Given the description of an element on the screen output the (x, y) to click on. 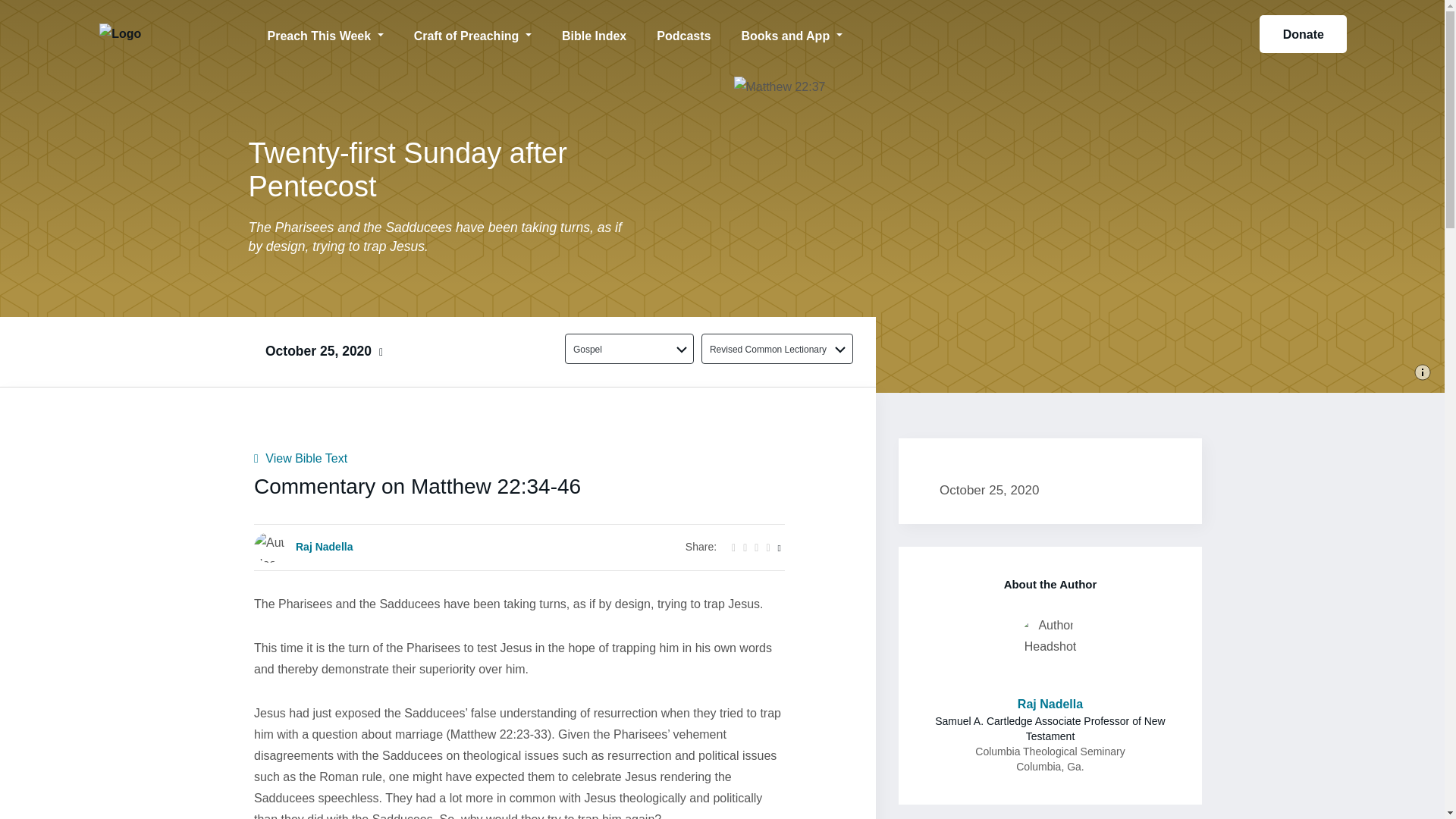
Books and App (791, 33)
Craft of Preaching (472, 33)
Books and App (791, 33)
Preach This Week (324, 33)
Revised Common Lectionary (768, 348)
Preach This Week (324, 33)
Podcasts (683, 33)
Donate (1302, 34)
Bible Index (594, 33)
Podcasts (683, 33)
